Given the description of an element on the screen output the (x, y) to click on. 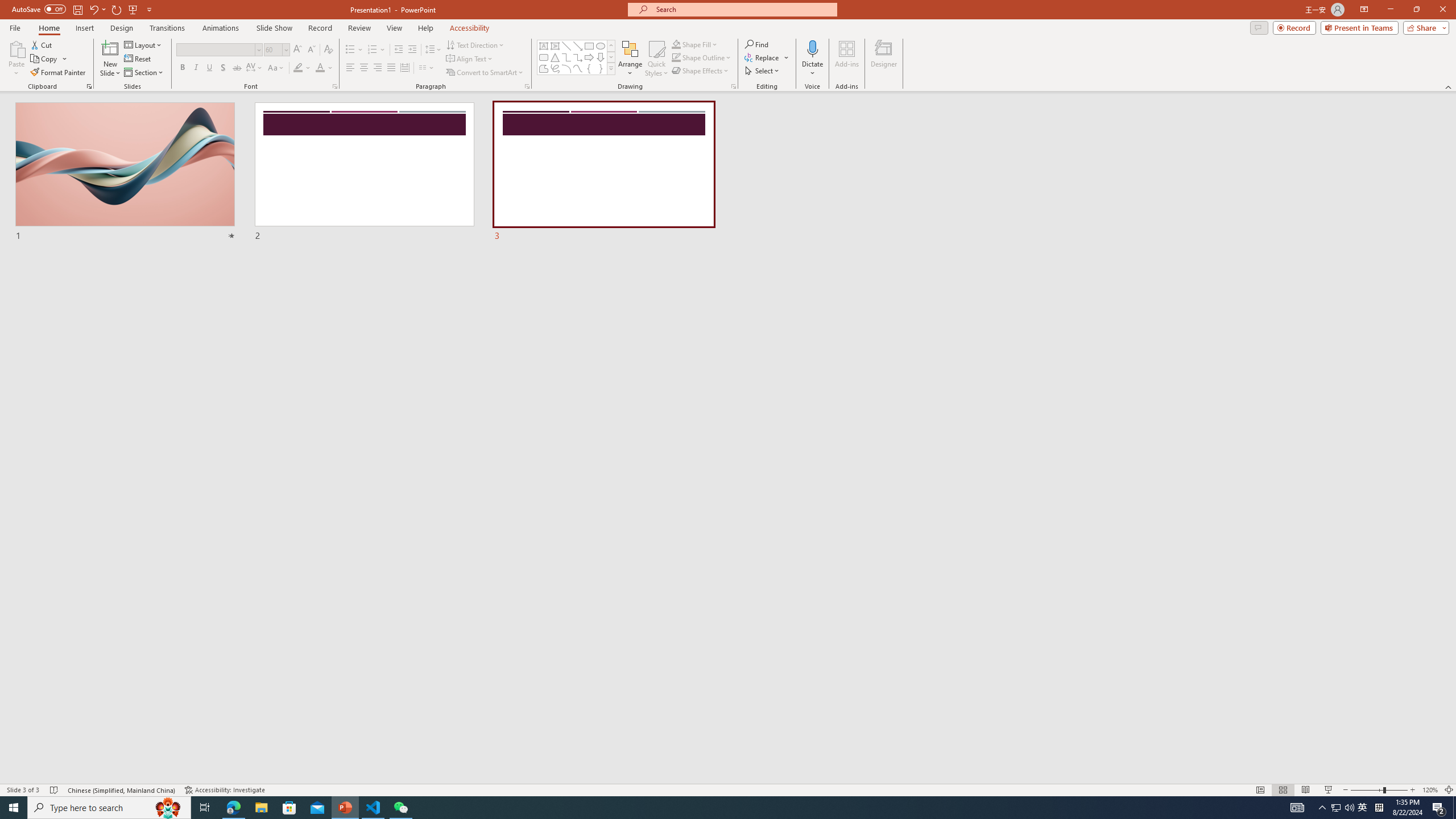
Change Case (276, 67)
Italic (195, 67)
Columns (426, 67)
Text Highlight Color Yellow (297, 67)
